Given the description of an element on the screen output the (x, y) to click on. 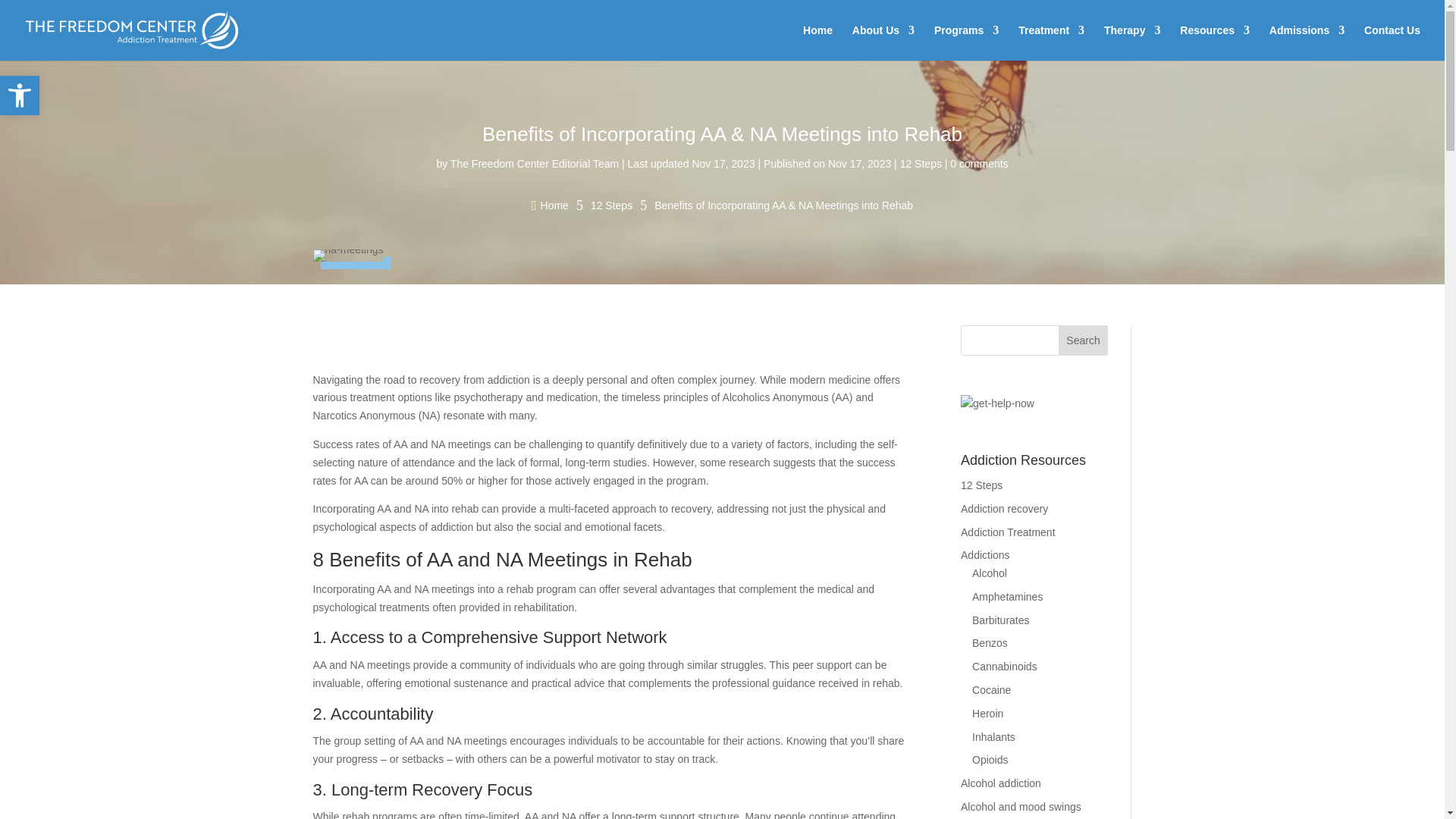
Treatment (1050, 42)
Therapy (1131, 42)
Search (1083, 340)
Programs (966, 42)
na meetings (347, 255)
Accessibility Tools (19, 95)
About Us (882, 42)
Posts by The Freedom Center Editorial Team (533, 163)
